Given the description of an element on the screen output the (x, y) to click on. 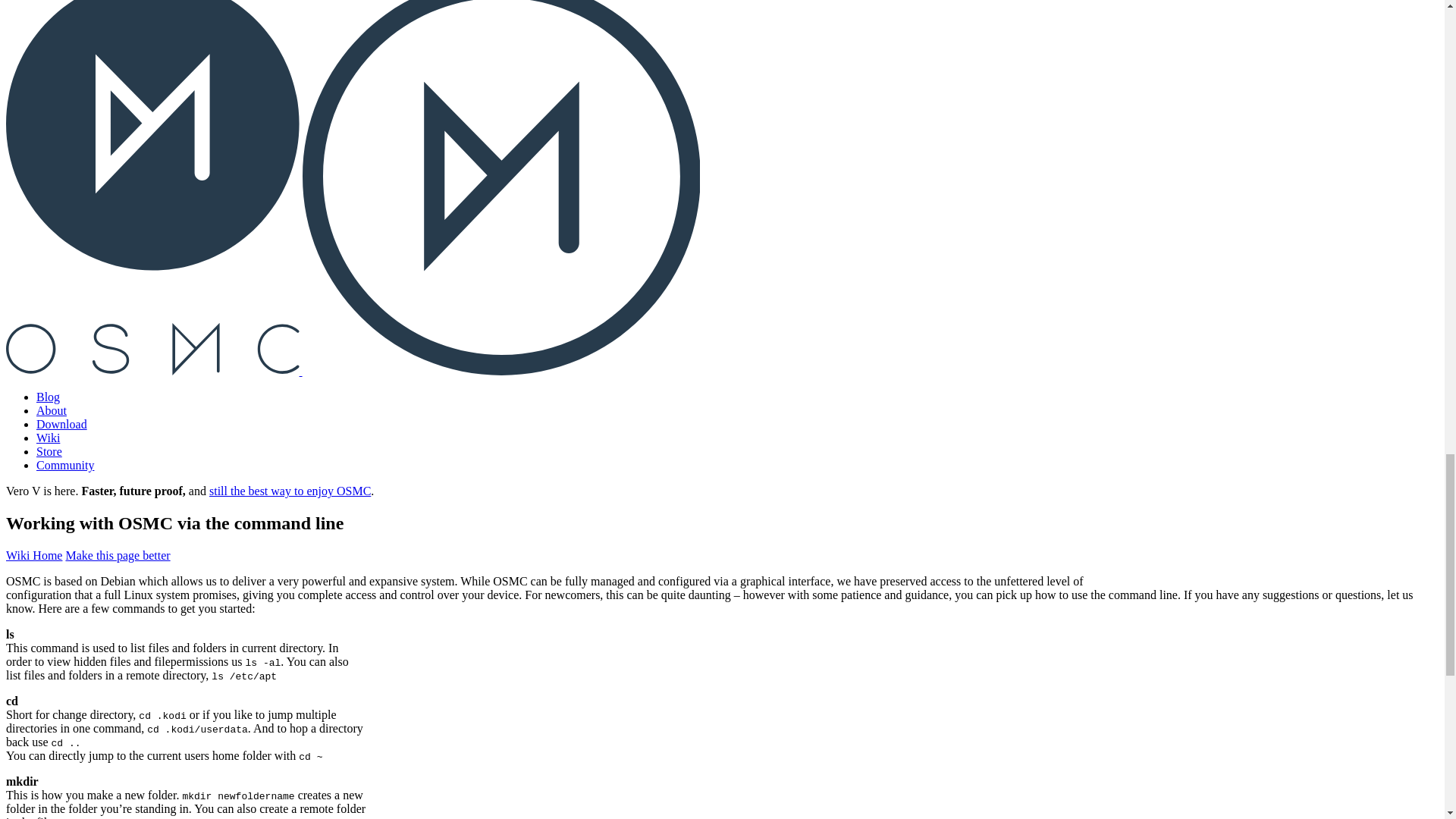
Wiki Home (33, 554)
Blog (47, 396)
Store (49, 451)
Download (61, 423)
About (51, 410)
still the best way to enjoy OSMC (290, 490)
Community (65, 464)
Wiki (47, 437)
Make this page better (117, 554)
